Given the description of an element on the screen output the (x, y) to click on. 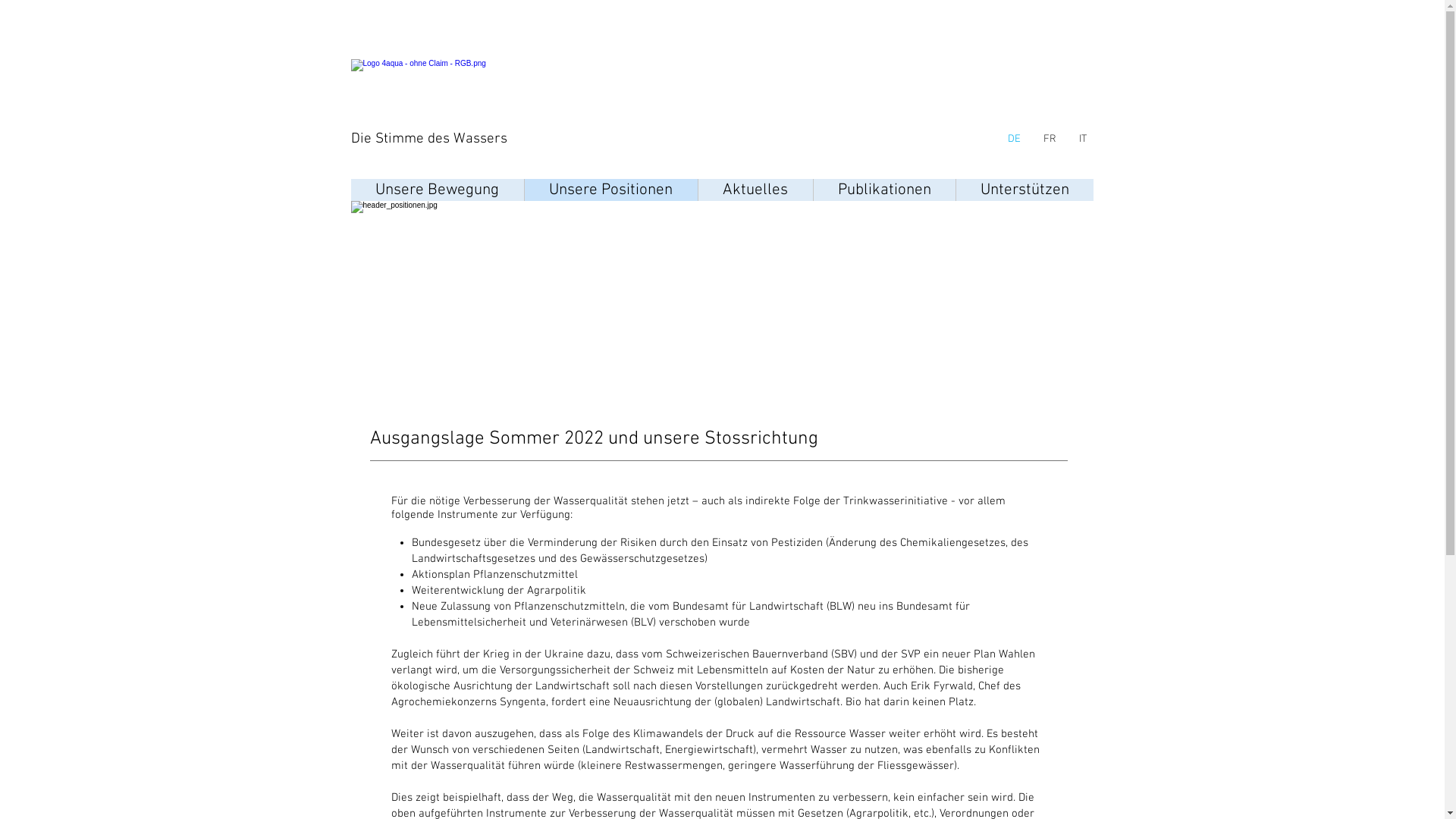
logo.png Element type: hover (419, 94)
Aktuelles Element type: text (754, 189)
Unsere Bewegung Element type: text (436, 189)
DE Element type: text (1013, 139)
Unsere Positionen Element type: text (609, 189)
FR Element type: text (1049, 139)
Publikationen Element type: text (883, 189)
IT Element type: text (1082, 139)
Die Stimme des Wassers Element type: text (428, 138)
logo.png Element type: hover (721, 302)
